Given the description of an element on the screen output the (x, y) to click on. 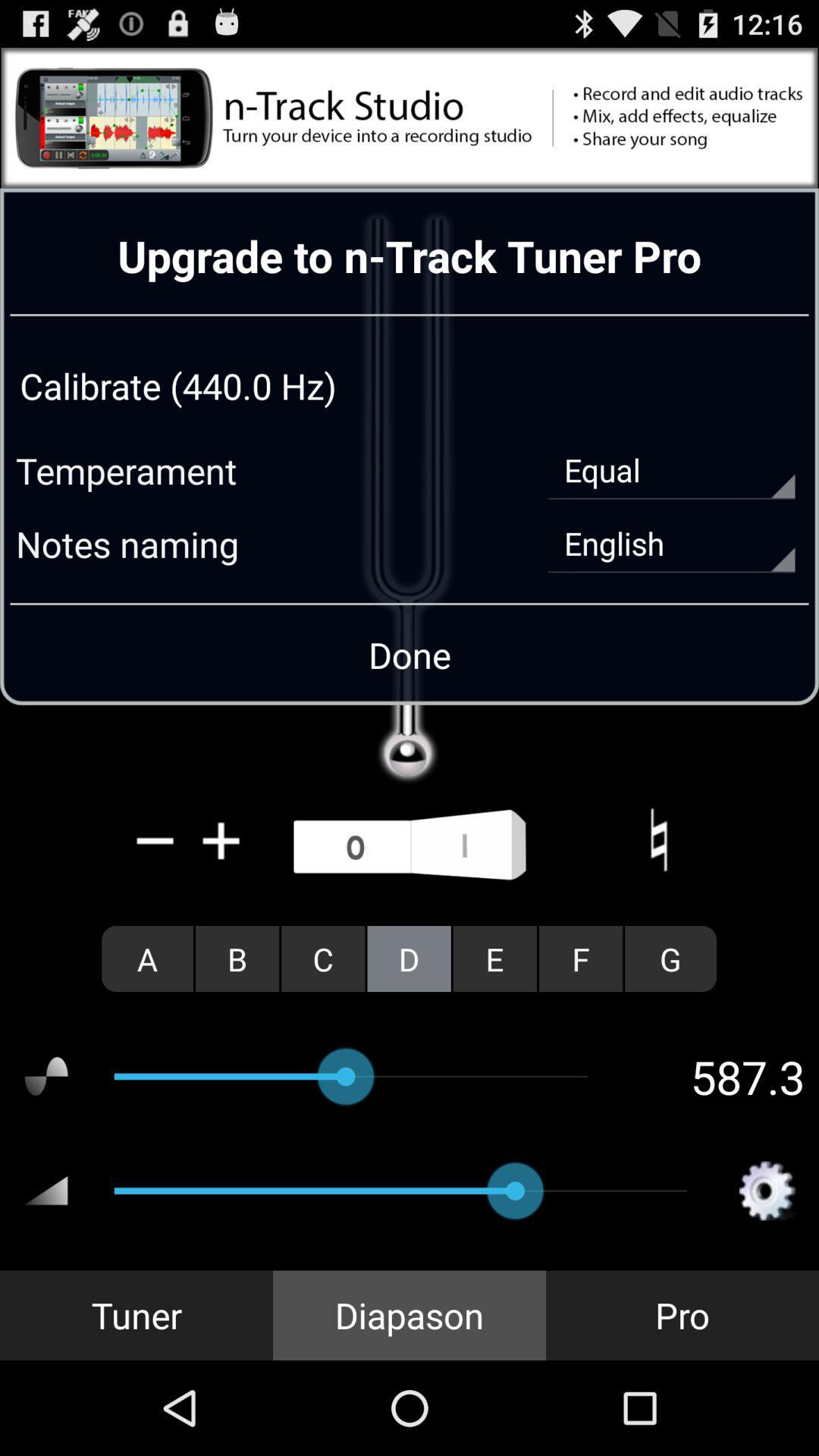
press the item to the right of the c radio button (409, 958)
